Given the description of an element on the screen output the (x, y) to click on. 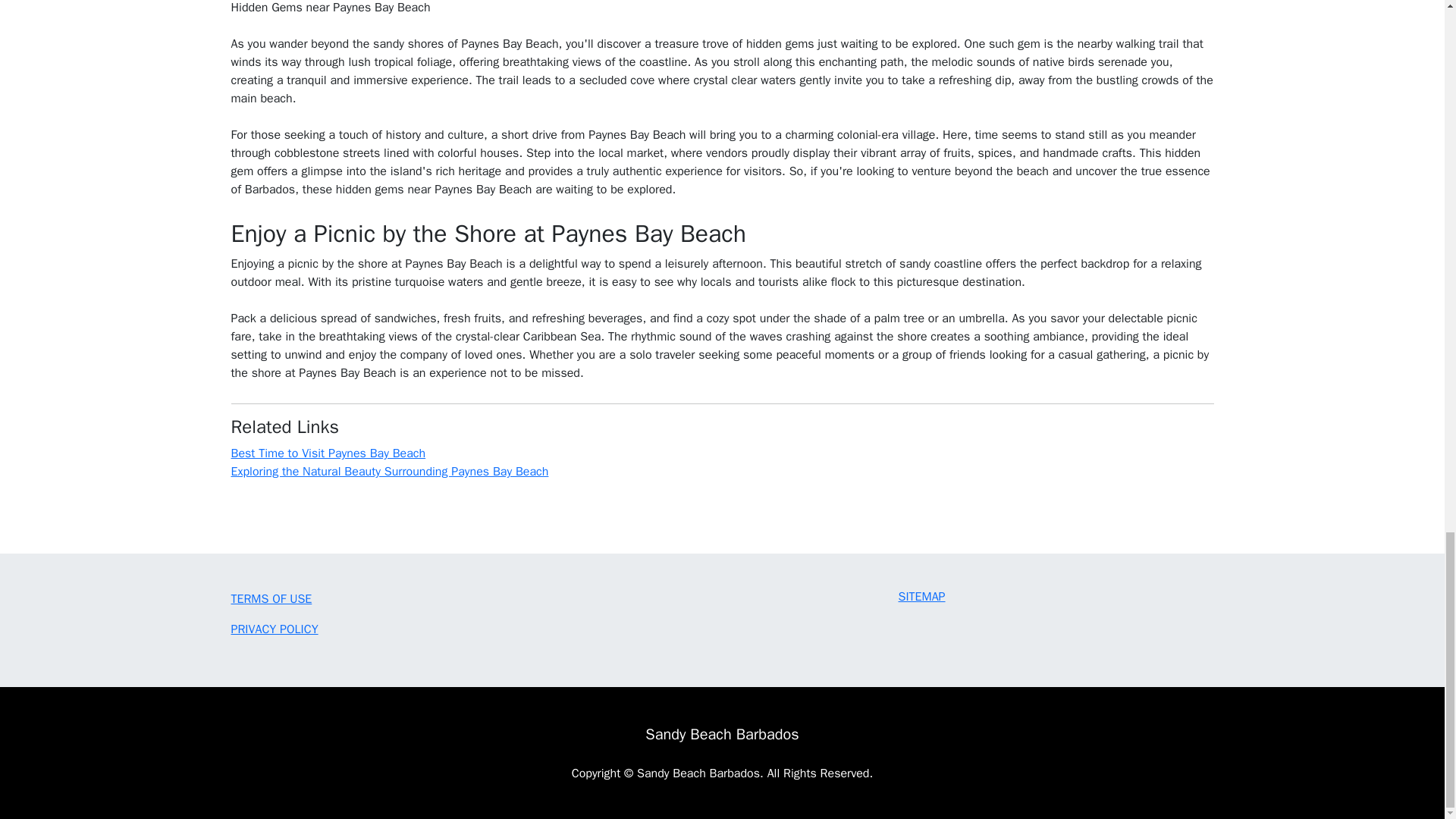
Exploring the Natural Beauty Surrounding Paynes Bay Beach (389, 471)
TERMS OF USE (270, 598)
Sandy Beach Barbados (721, 734)
Best Time to Visit Paynes Bay Beach (327, 453)
PRIVACY POLICY (273, 629)
SITEMAP (921, 596)
